Given the description of an element on the screen output the (x, y) to click on. 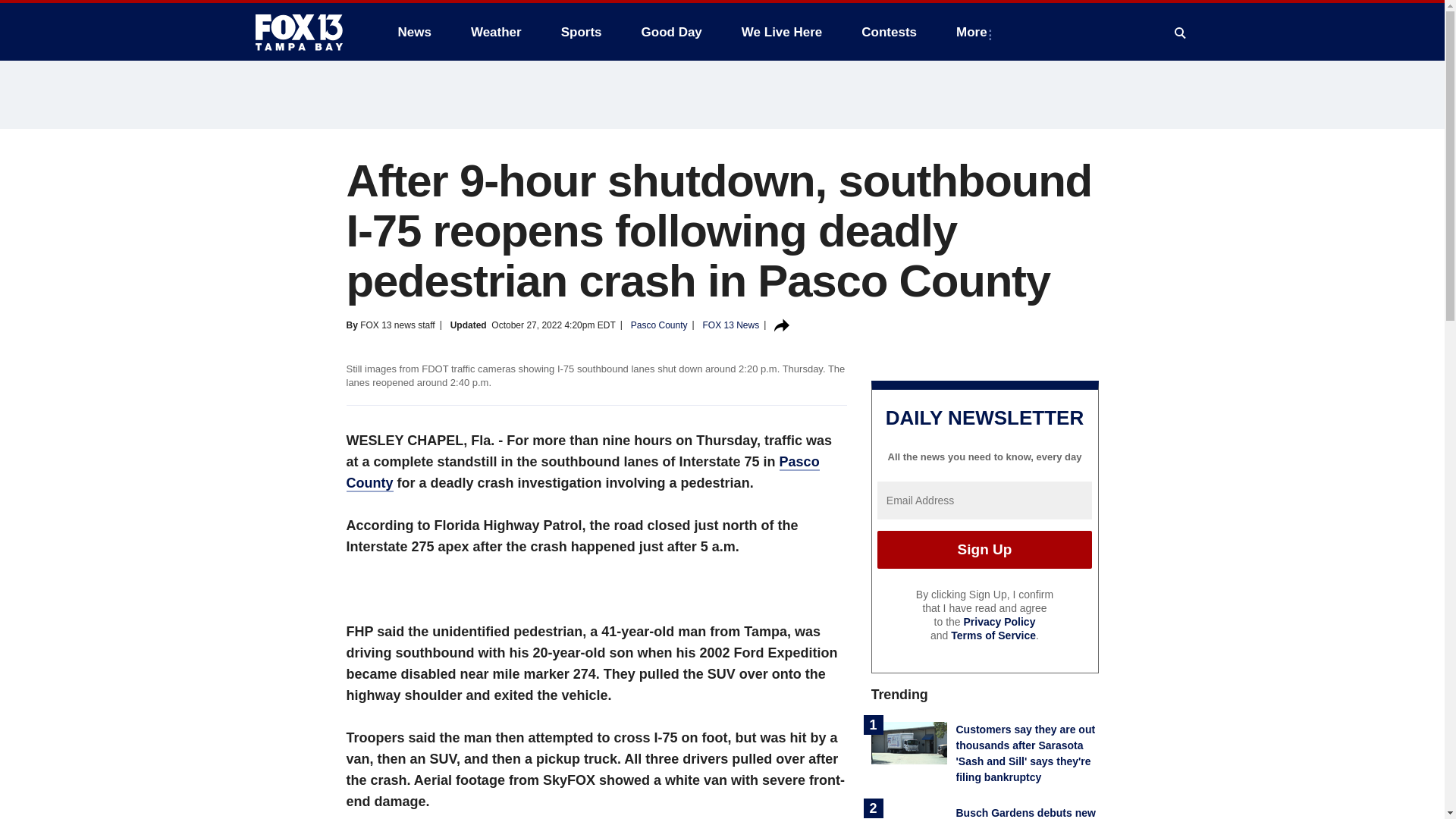
We Live Here (781, 32)
News (413, 32)
More (974, 32)
Contests (888, 32)
Sports (581, 32)
Sign Up (984, 549)
Good Day (671, 32)
Weather (496, 32)
